Given the description of an element on the screen output the (x, y) to click on. 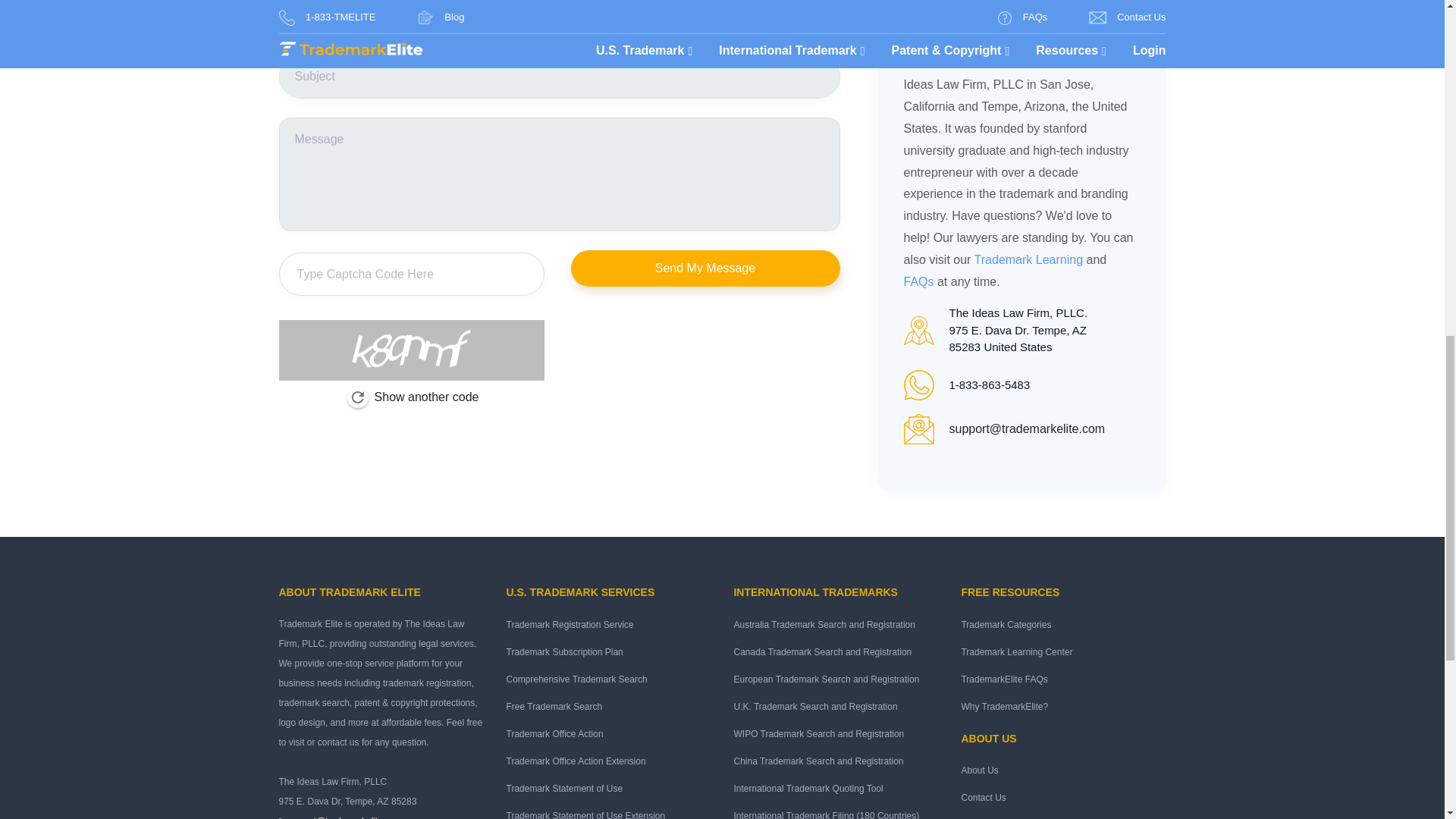
Type Captcha Code Here (412, 274)
